Given the description of an element on the screen output the (x, y) to click on. 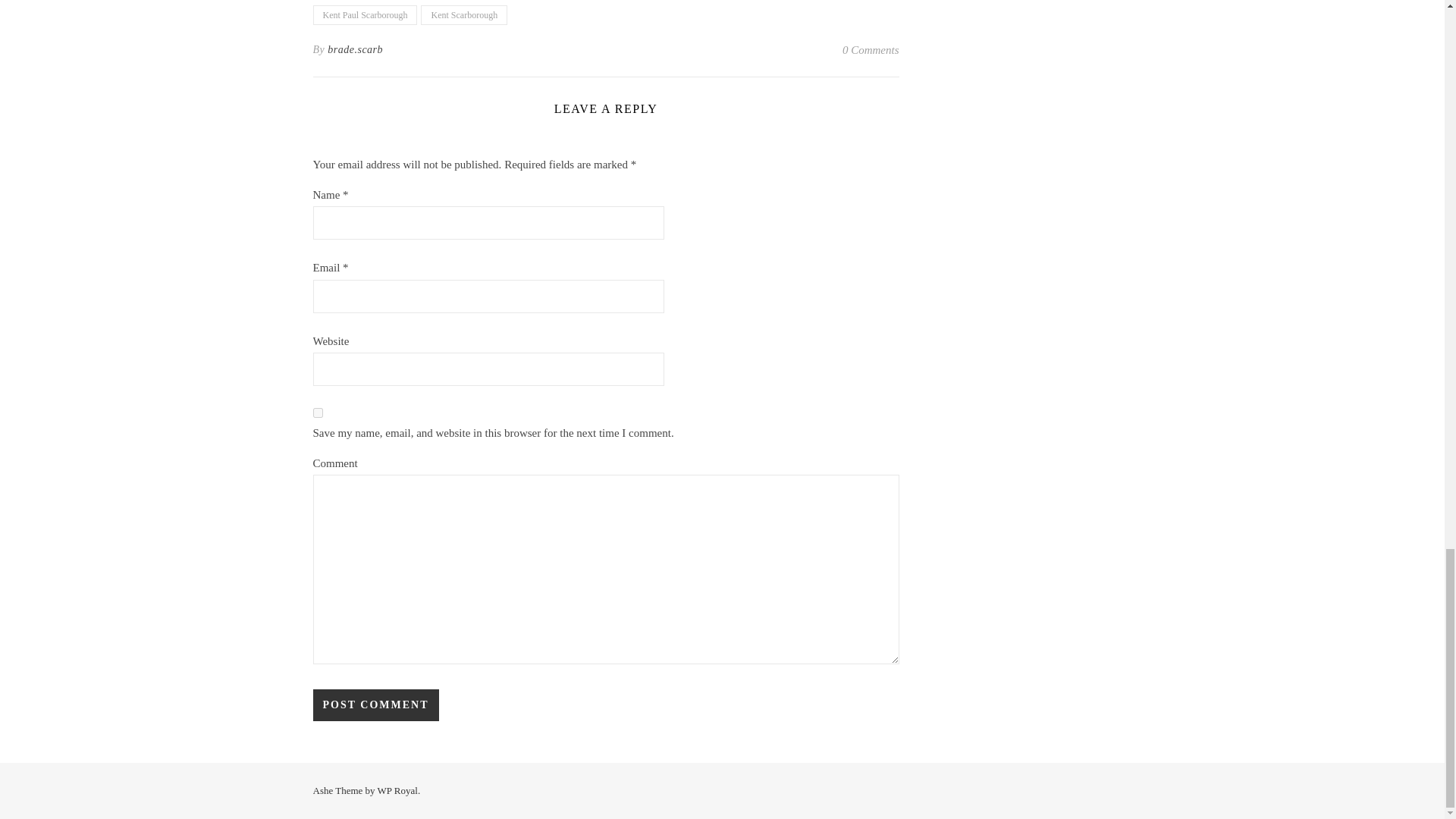
yes (317, 412)
Posts by brade.scarb (354, 49)
0 Comments (871, 49)
brade.scarb (354, 49)
WP Royal (397, 790)
Post Comment (375, 705)
Post Comment (375, 705)
Kent Paul Scarborough (364, 14)
Kent Scarborough (463, 14)
